Given the description of an element on the screen output the (x, y) to click on. 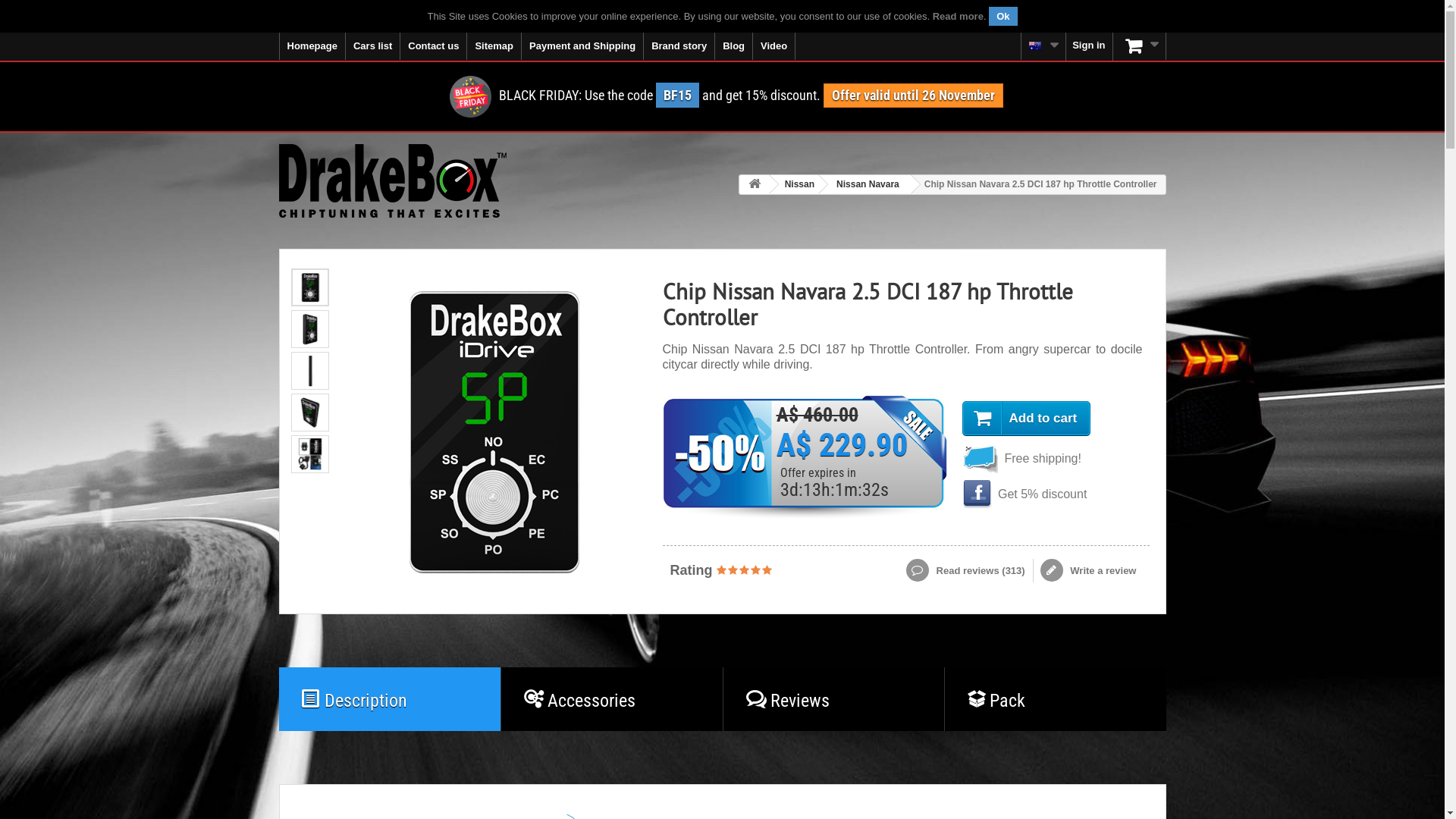
Chip Nissan Navara 2.5 DCI 187 hp Throttle Controller Element type: hover (309, 412)
Read more Element type: text (957, 15)
Chiptuning Drakebox | Chiptuning That Excites Element type: hover (392, 180)
Write a review Element type: text (1088, 570)
Brand story Element type: text (678, 45)
Chip Nissan Navara 2.5 DCI 187 hp Throttle Controller Element type: hover (309, 412)
Chip Nissan Navara 2.5 DCI 187 hp Throttle Controller Element type: hover (309, 454)
Get 5% discount Element type: text (1046, 494)
Video Element type: text (773, 45)
Payment and Shipping Element type: text (582, 45)
Chiptuning Element type: hover (1035, 45)
Chip Nissan Navara 2.5 DCI 187 hp Throttle Controller Element type: hover (309, 328)
Chip Nissan Navara 2.5 DCI 187 hp Throttle Controller Element type: hover (309, 370)
Get 5% discount Element type: hover (976, 494)
Chip Nissan Navara 2.5 DCI 187 hp Throttle Controller Element type: hover (309, 287)
Contact us Element type: text (433, 45)
Read reviews (313) Element type: text (969, 570)
Chip Nissan Navara 2.5 DCI 187 hp Throttle Controller Element type: hover (309, 328)
Blog Element type: text (733, 45)
Homepage Element type: text (311, 45)
Chip Nissan Navara 2.5 DCI 187 hp Throttle Controller Element type: hover (492, 431)
Return to Home Element type: hover (754, 184)
Add to cart Element type: text (1025, 418)
Cars list Element type: text (372, 45)
Nissan Element type: text (796, 184)
Chip Nissan Navara 2.5 DCI 187 hp Throttle Controller Element type: hover (309, 370)
Chip Nissan Navara 2.5 DCI 187 hp Throttle Controller Element type: hover (309, 453)
View my shopping cart Element type: hover (1139, 45)
Sitemap Element type: text (493, 45)
Chip Nissan Navara 2.5 DCI 187 hp Throttle Controller Element type: hover (309, 286)
Sign in Element type: text (1088, 46)
Nissan Navara Element type: text (864, 184)
